Given the description of an element on the screen output the (x, y) to click on. 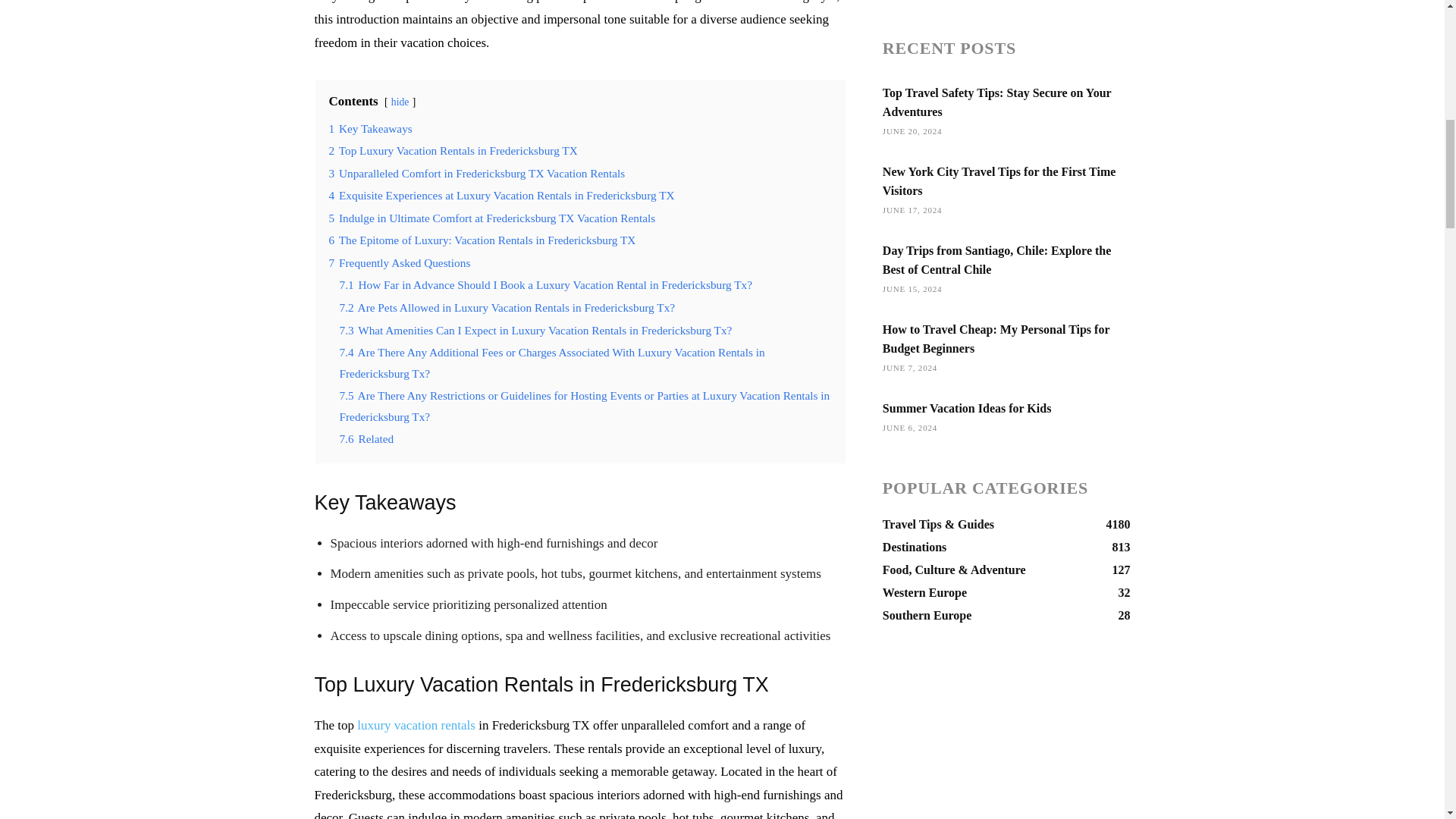
2 Top Luxury Vacation Rentals in Fredericksburg TX (453, 150)
7 Frequently Asked Questions (399, 262)
1 Key Takeaways (370, 128)
hide (400, 101)
7.6 Related (366, 438)
luxury vacation rentals (416, 725)
3 Unparalleled Comfort in Fredericksburg TX Vacation Rentals (477, 173)
luxury vacation rentals (416, 725)
